Given the description of an element on the screen output the (x, y) to click on. 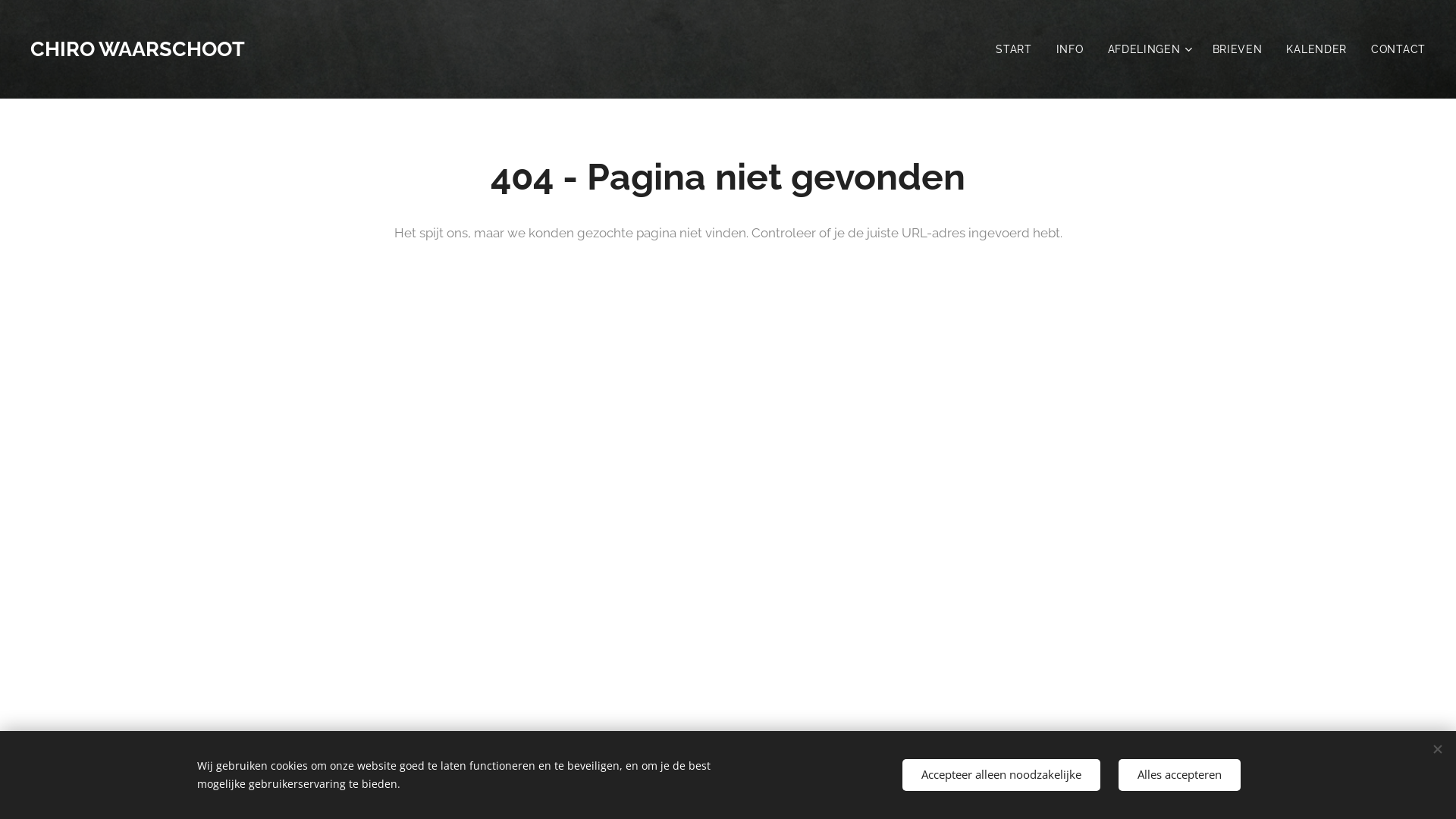
CHIRO WAARSCHOOT  Element type: text (139, 48)
START Element type: text (1017, 49)
Cookies Element type: text (797, 784)
Accepteer alleen noodzakelijke Element type: text (1001, 774)
Alles accepteren Element type: text (1179, 774)
INFO Element type: text (1069, 49)
CONTACT Element type: text (1391, 49)
BRIEVEN Element type: text (1237, 49)
AFDELINGEN Element type: text (1147, 49)
KALENDER Element type: text (1316, 49)
info@chirowaarschoot.be Element type: text (700, 784)
